Given the description of an element on the screen output the (x, y) to click on. 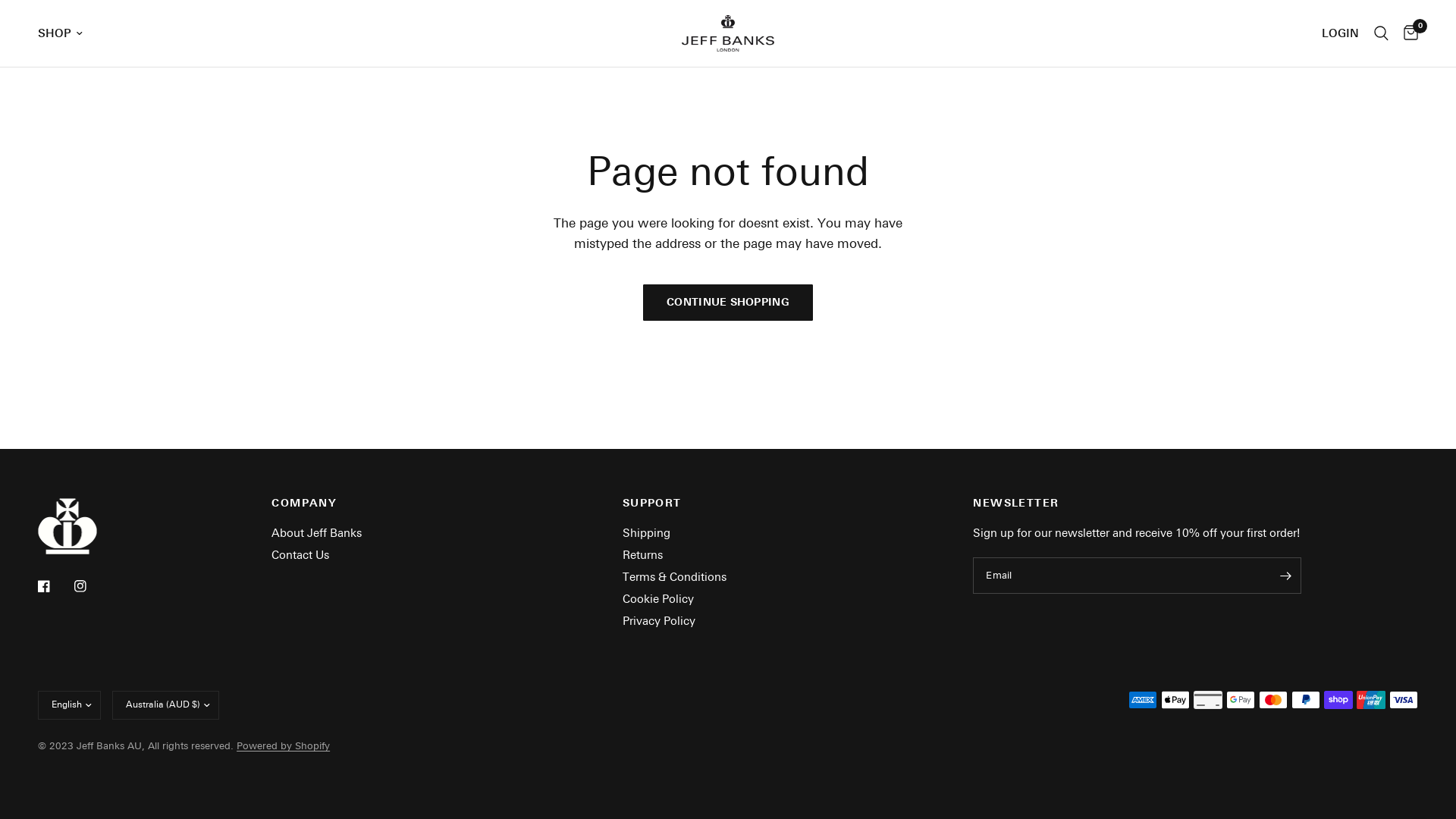
LOGIN Element type: text (1340, 33)
CONTINUE SHOPPING Element type: text (727, 302)
Instagram Element type: hover (90, 585)
Privacy Policy Element type: text (658, 620)
Facebook Element type: hover (54, 585)
About Jeff Banks Element type: text (316, 532)
Contact Us Element type: text (300, 554)
SHOP Element type: text (59, 33)
Shipping Element type: text (646, 532)
0 Element type: text (1407, 33)
COMPANY Element type: text (435, 503)
Returns Element type: text (642, 554)
Powered by Shopify Element type: text (282, 746)
xxx@xxx.xxx Element type: hover (1136, 575)
Terms & Conditions Element type: text (674, 576)
Search Element type: hover (1381, 33)
Cookie Policy Element type: text (657, 598)
SUPPORT Element type: text (786, 503)
